Given the description of an element on the screen output the (x, y) to click on. 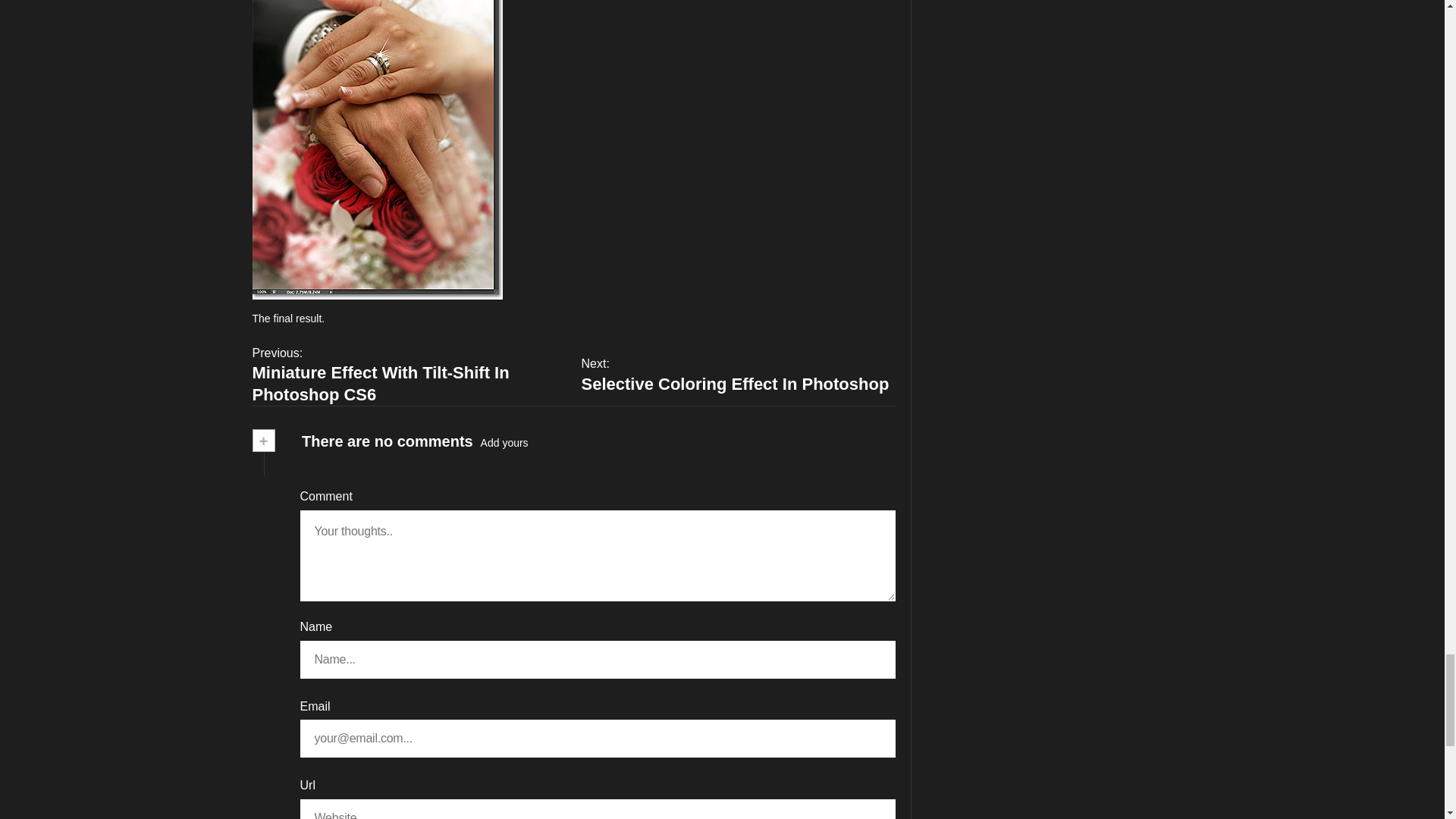
Add yours (737, 373)
